Given the description of an element on the screen output the (x, y) to click on. 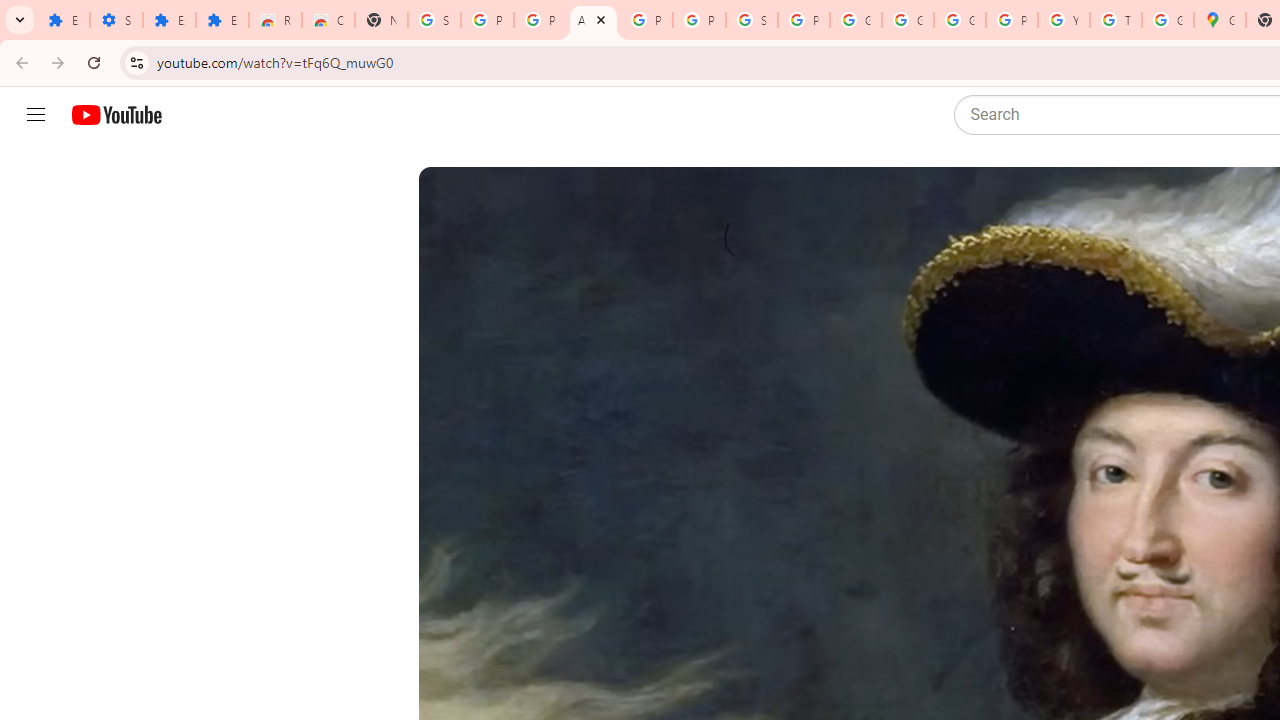
Sign in - Google Accounts (434, 20)
Sign in - Google Accounts (751, 20)
Chrome Web Store - Themes (328, 20)
Reviews: Helix Fruit Jump Arcade Game (275, 20)
New Tab (381, 20)
Google Account (855, 20)
YouTube (1064, 20)
